Given the description of an element on the screen output the (x, y) to click on. 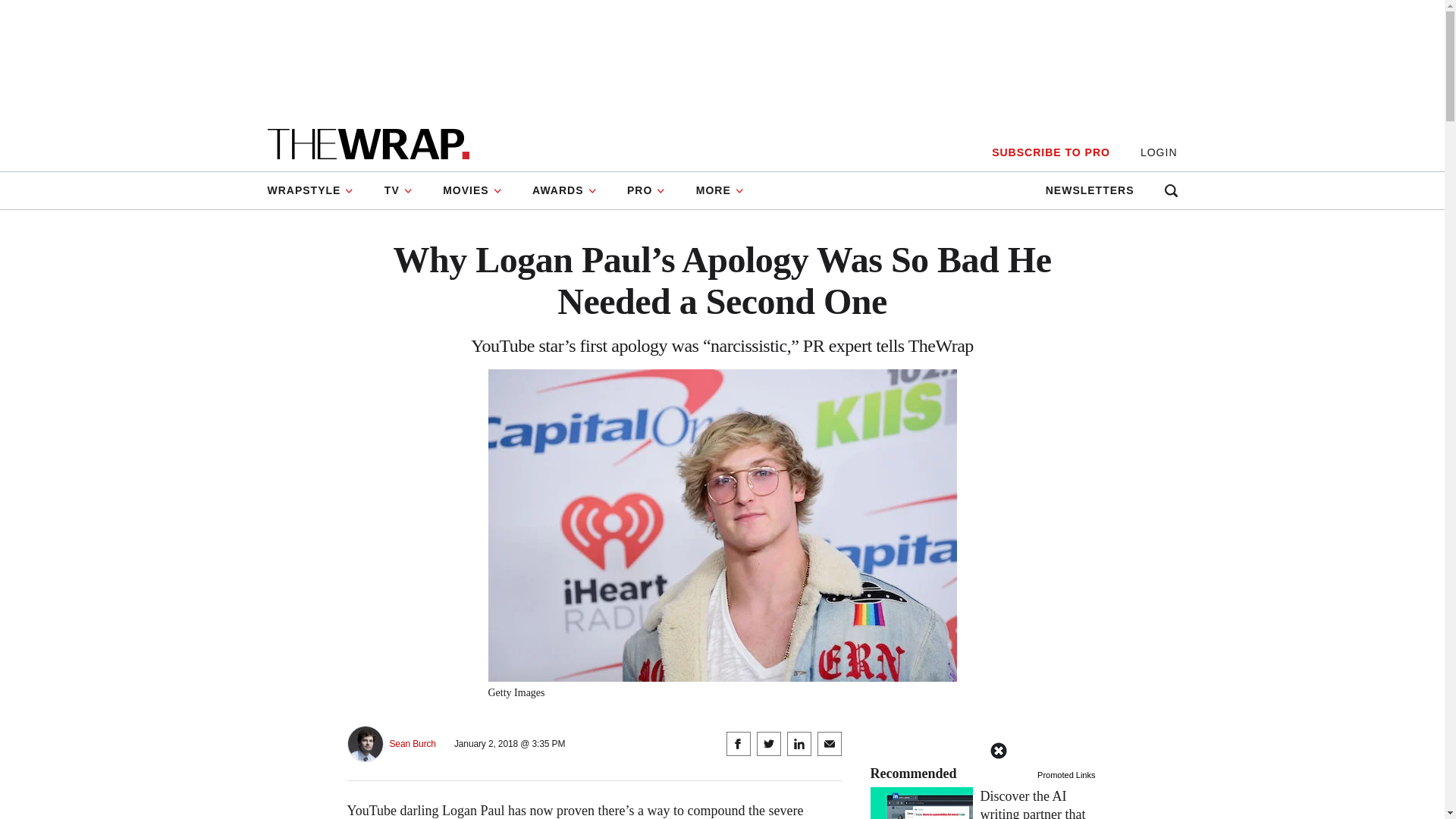
SUBSCRIBE TO PRO (1050, 152)
MOVIES (472, 190)
TV (398, 190)
Posts by Sean Burch (412, 744)
3rd party ad content (721, 785)
MORE (719, 190)
PRO (646, 190)
3rd party ad content (721, 58)
LOGIN (1158, 152)
WRAPSTYLE (317, 190)
AWARDS (563, 190)
